Given the description of an element on the screen output the (x, y) to click on. 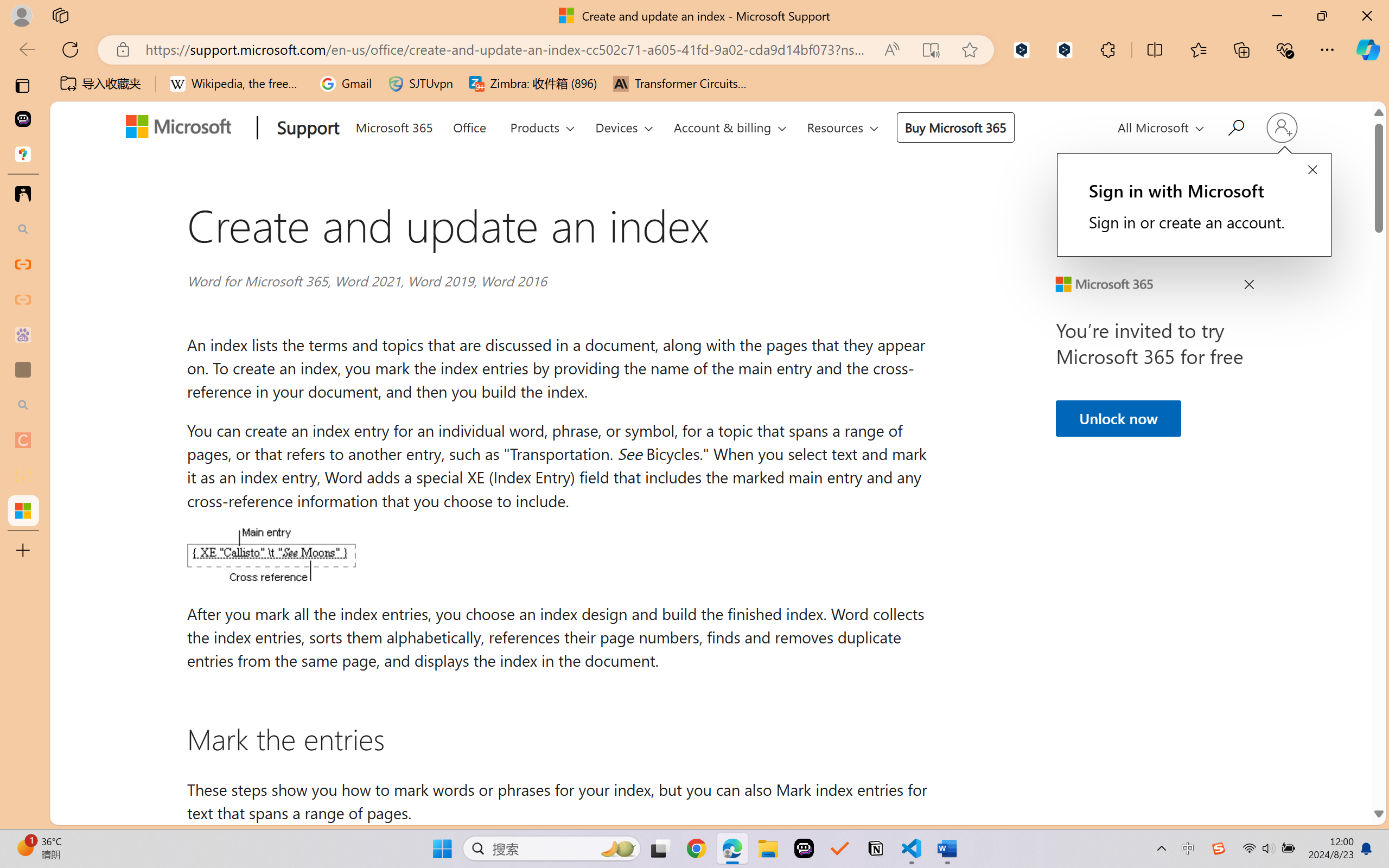
Unlock now (1117, 418)
Search for help (1234, 126)
